Given the description of an element on the screen output the (x, y) to click on. 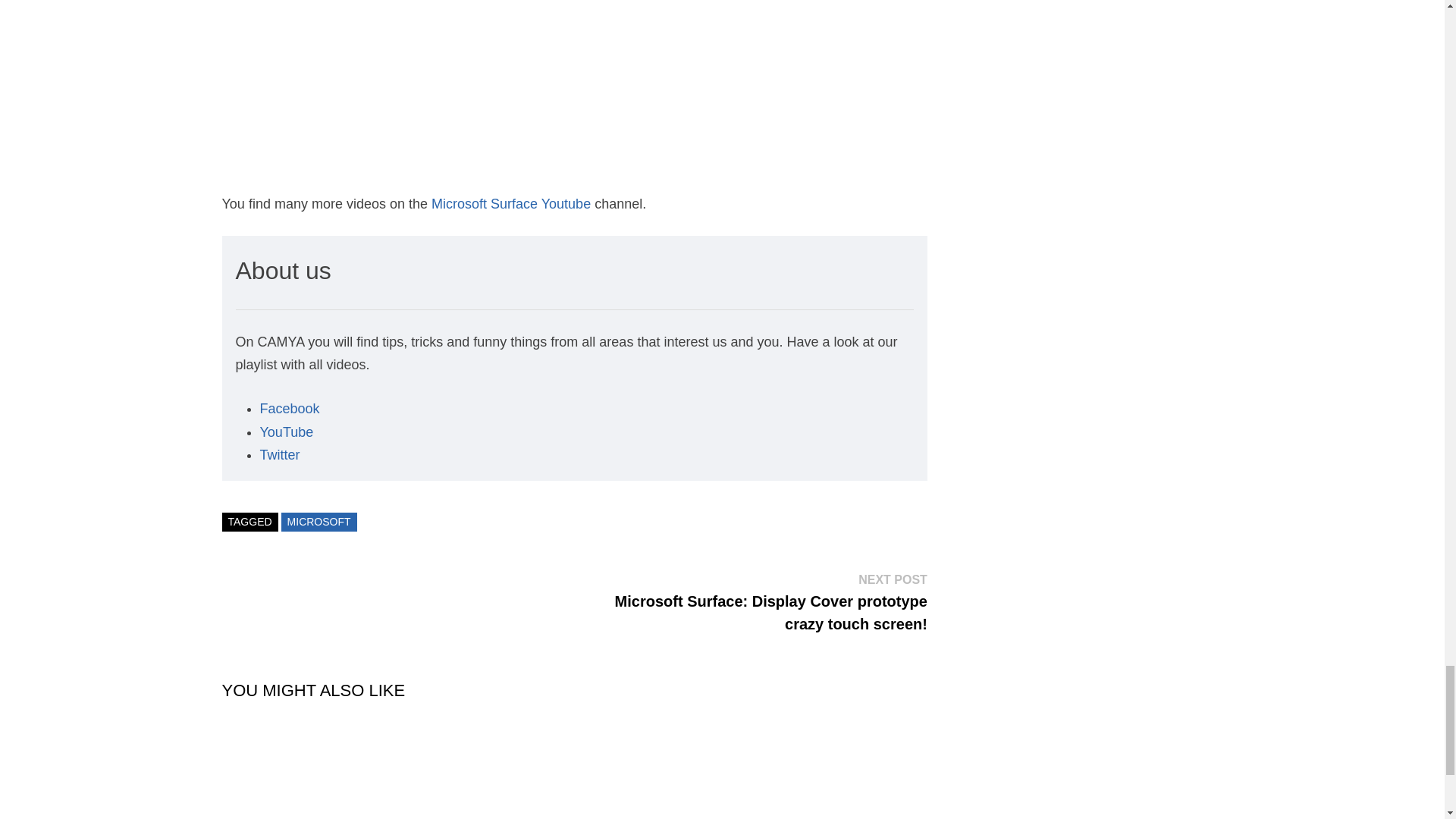
Twitter (279, 454)
YouTube (286, 432)
MICROSOFT (318, 521)
Facebook (288, 408)
Microsoft Surface Youtube (510, 203)
